Given the description of an element on the screen output the (x, y) to click on. 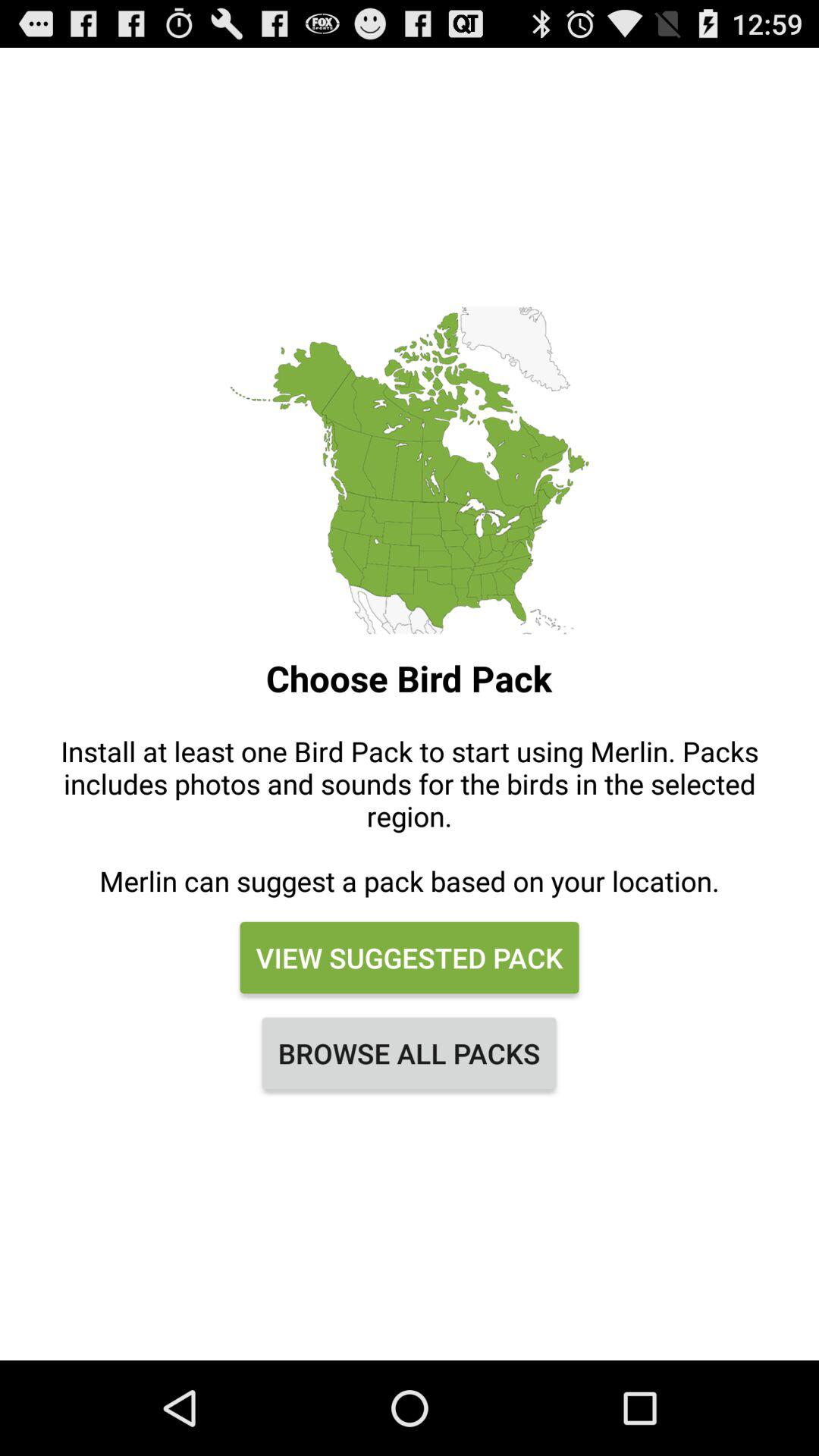
jump until view suggested pack item (409, 957)
